Given the description of an element on the screen output the (x, y) to click on. 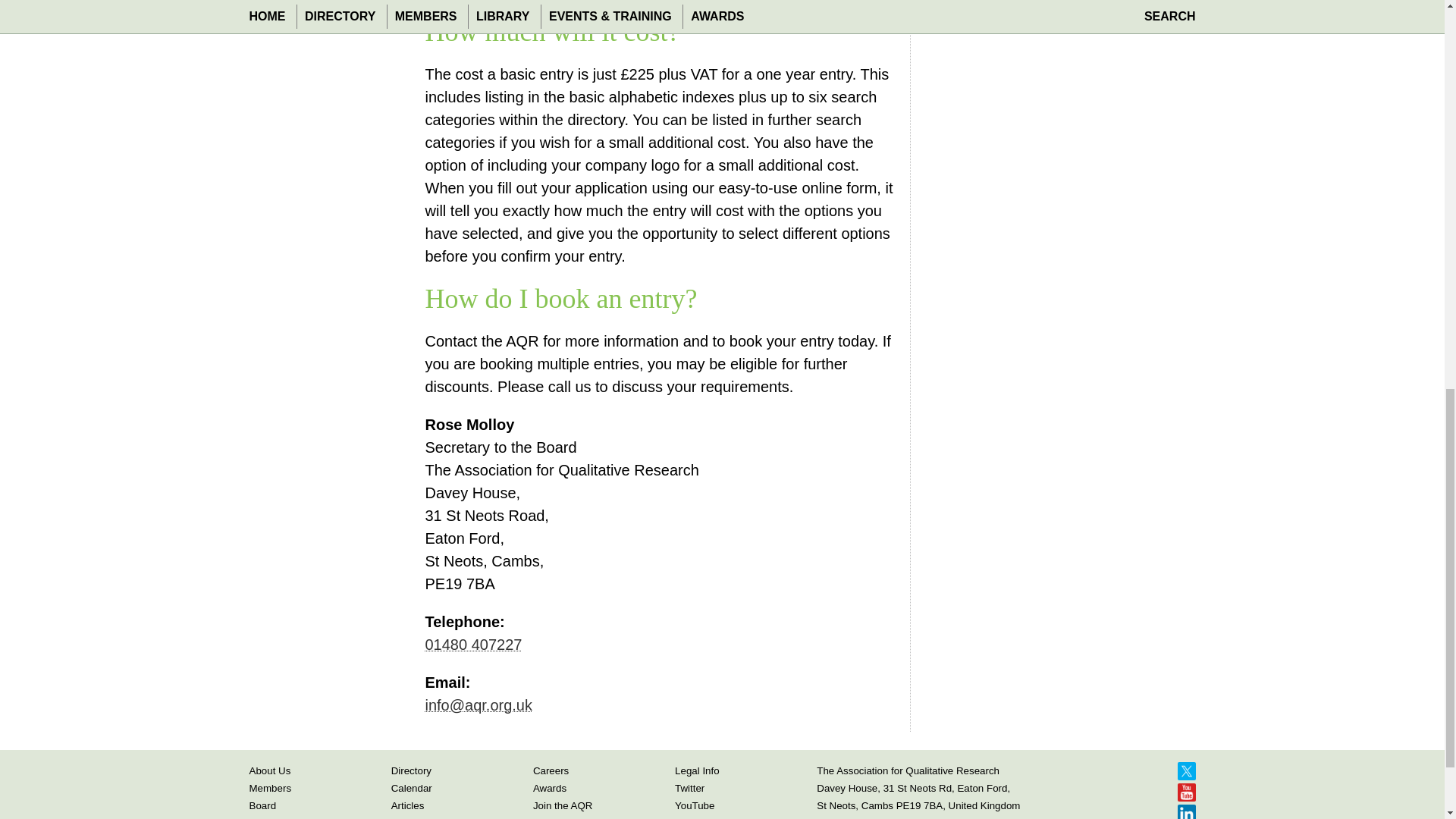
About Us (268, 769)
01480 407227 (473, 643)
Heritage (267, 818)
Members (269, 787)
Articles (408, 805)
Glossary (410, 818)
Directory (410, 769)
Calendar (411, 787)
Board (262, 805)
